Given the description of an element on the screen output the (x, y) to click on. 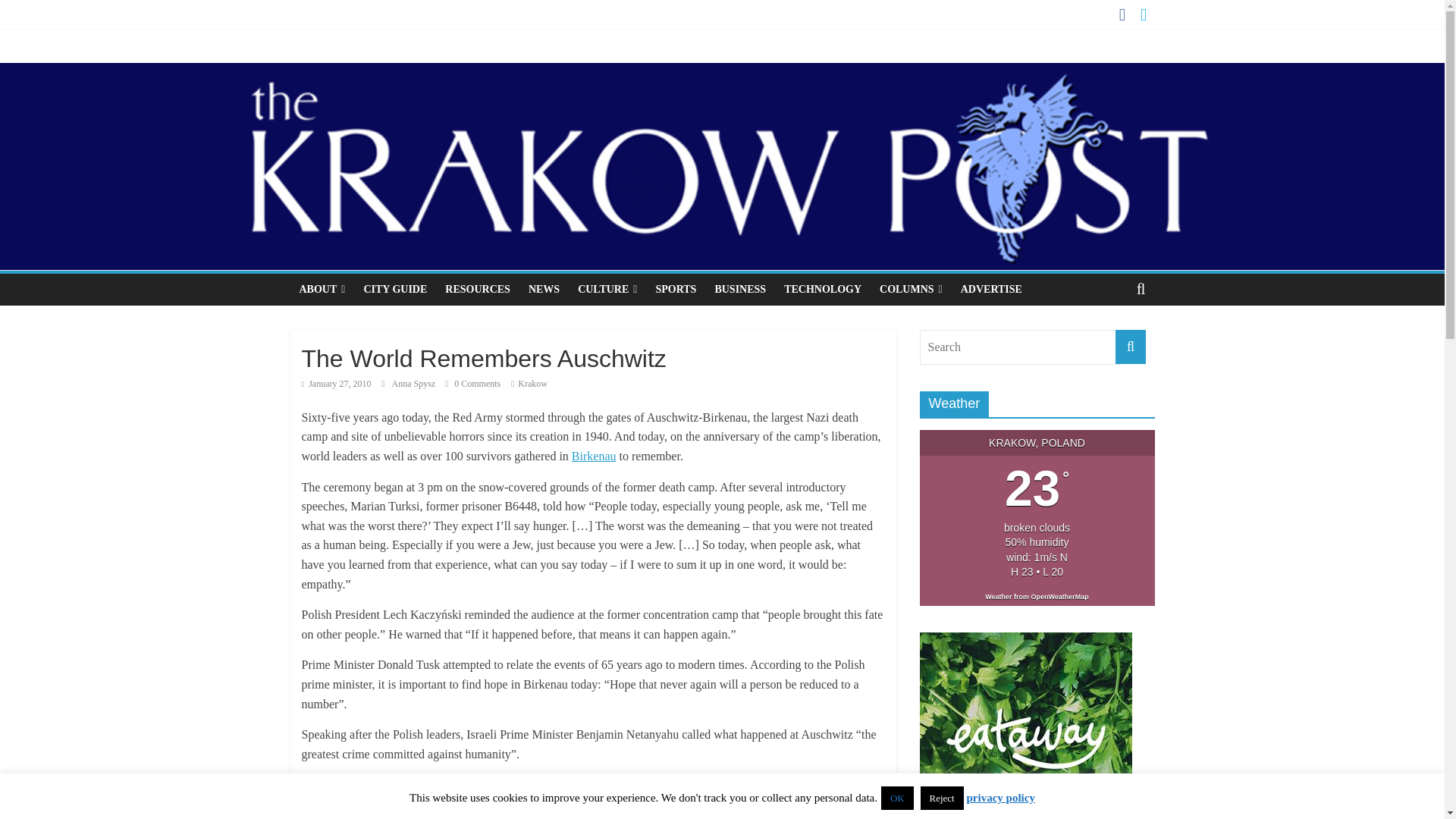
TECHNOLOGY (822, 289)
SPORTS (675, 289)
RESOURCES (477, 289)
CULTURE (607, 289)
NEWS (544, 289)
9:13 am (336, 383)
ABOUT (321, 289)
CITY GUIDE (394, 289)
BUSINESS (739, 289)
Anna Spysz (414, 383)
